Given the description of an element on the screen output the (x, y) to click on. 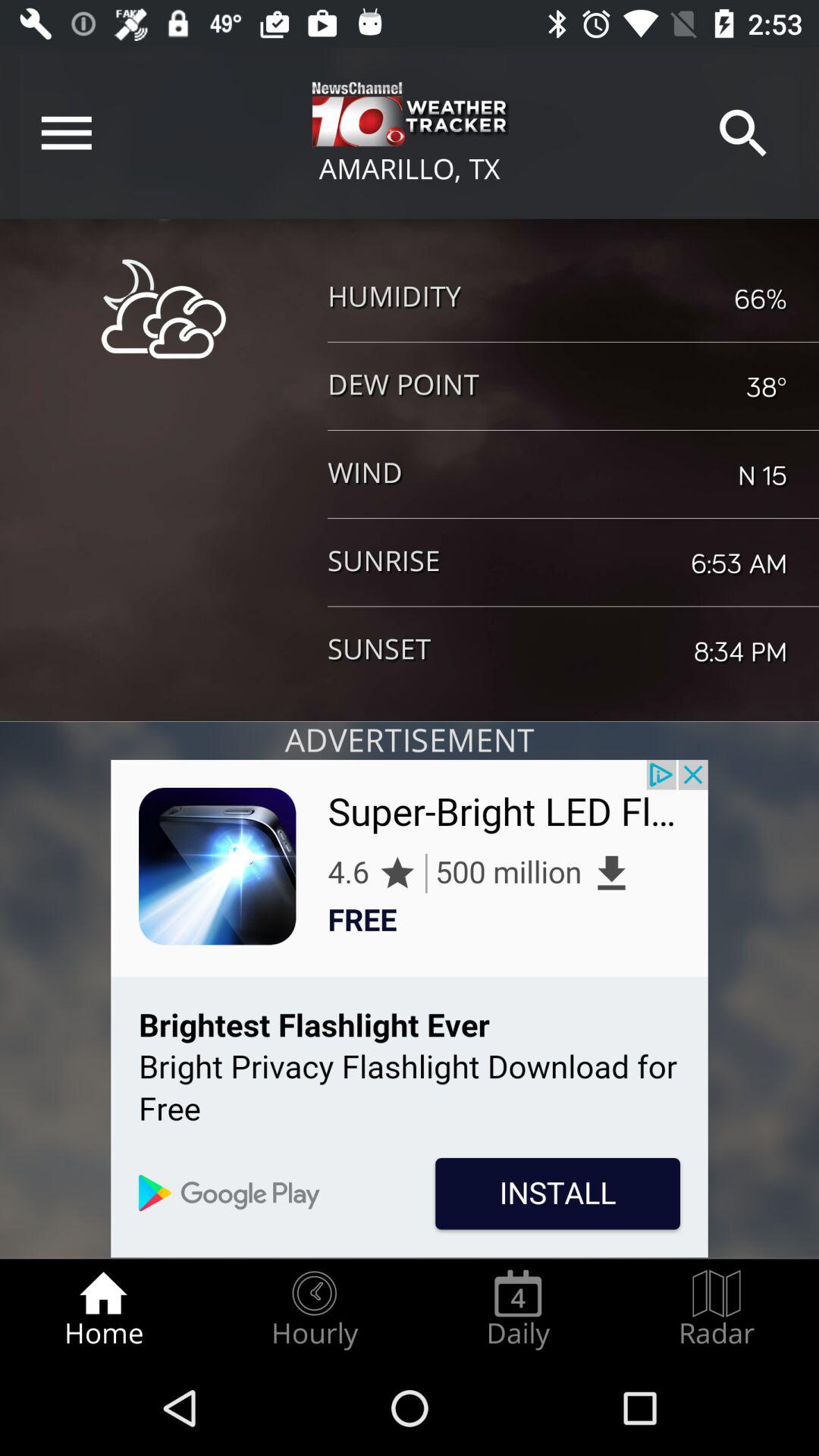
turn off radio button to the left of the radar radio button (518, 1309)
